Given the description of an element on the screen output the (x, y) to click on. 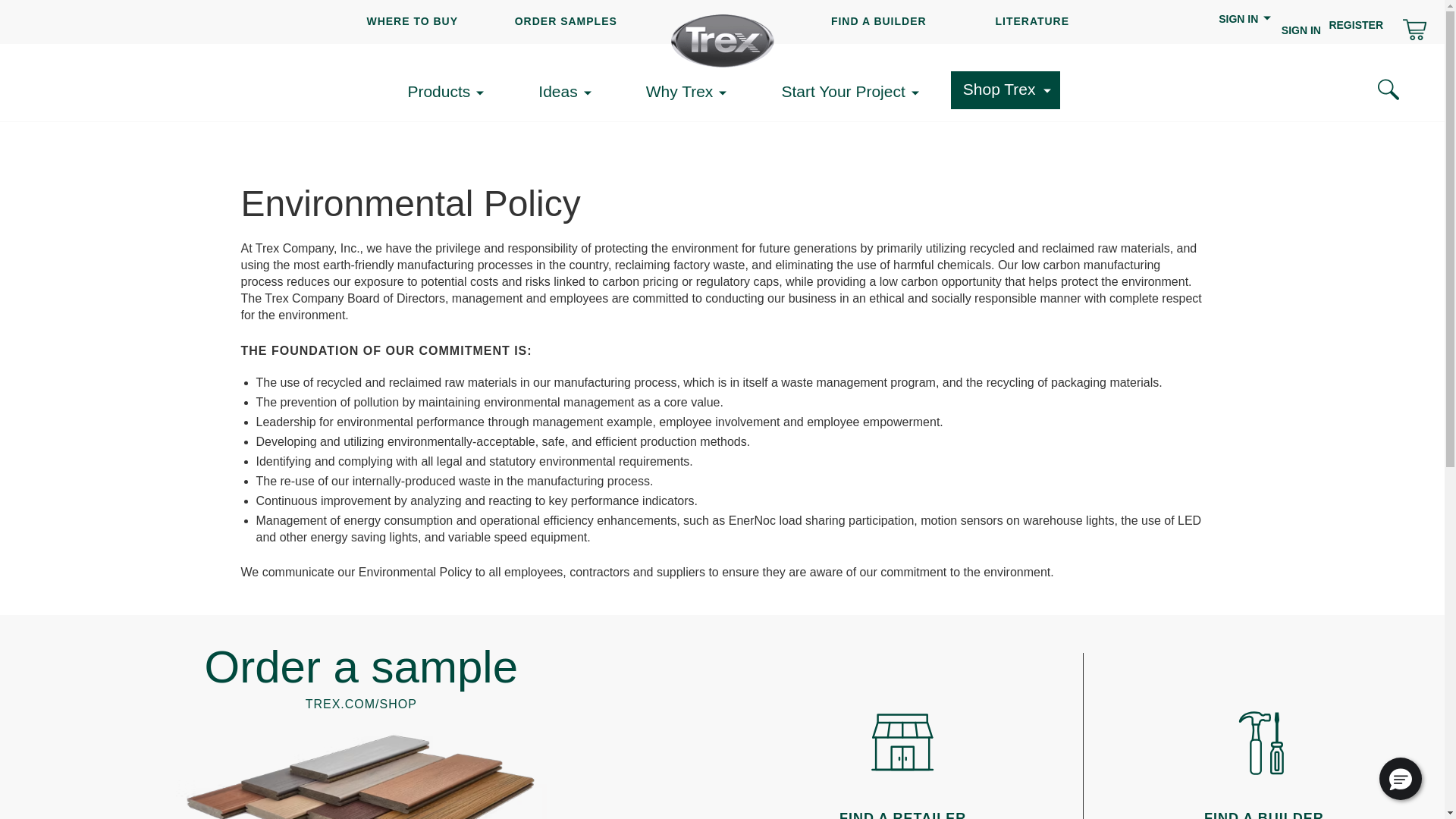
ORDER SAMPLES (566, 21)
LITERATURE (1031, 21)
REGISTER (1355, 24)
SIGN IN (1245, 28)
Products (450, 92)
SIGN IN (1300, 30)
FIND A BUILDER (878, 21)
WHERE TO BUY (412, 21)
